Given the description of an element on the screen output the (x, y) to click on. 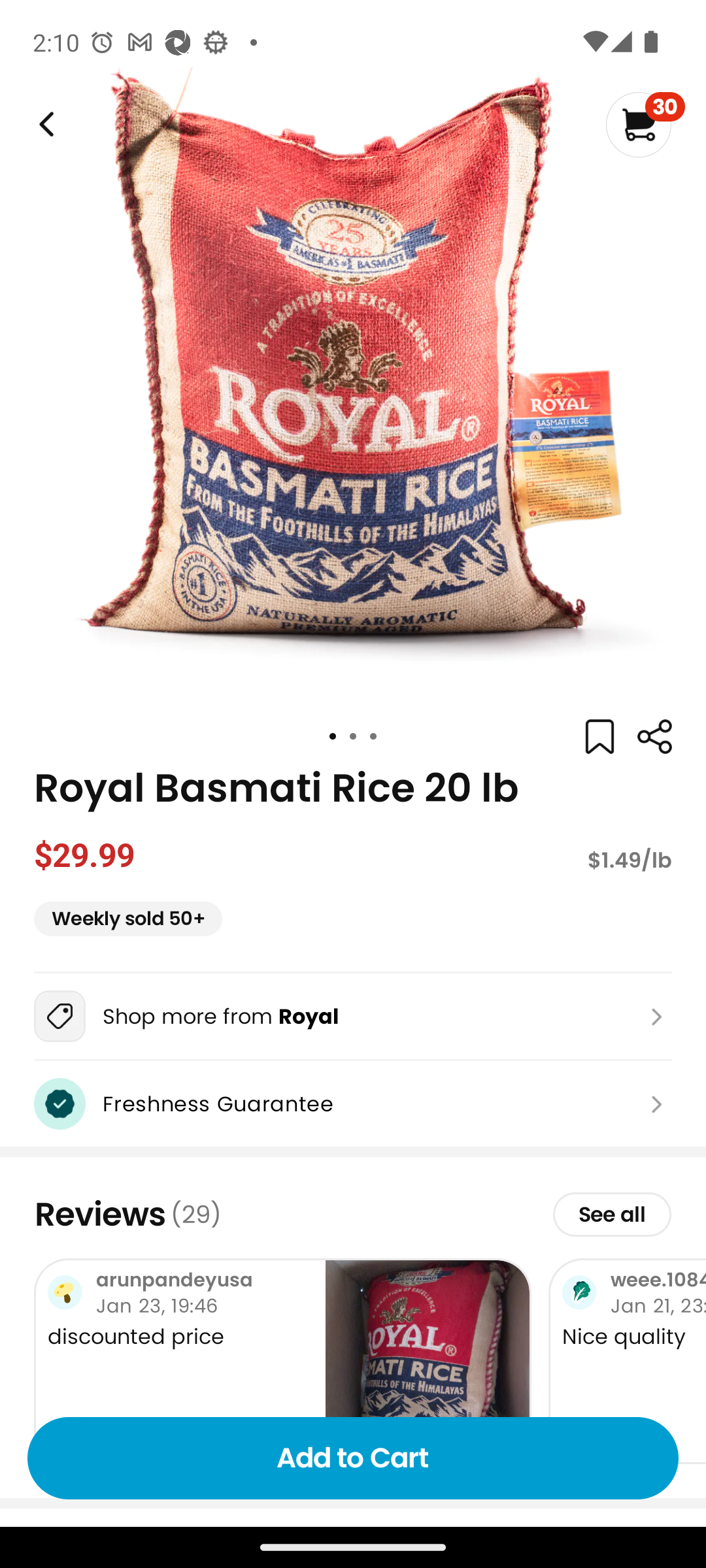
30 (644, 124)
Weee! (45, 124)
Weee! (653, 736)
Shop more from Royal Weee! (352, 1015)
Freshness Guarantee (352, 1103)
Reviews (29) See all (353, 1214)
arunpandeyusa Jan 23, 19:46 discounted price (282, 1360)
Add to Cart (352, 1458)
